Given the description of an element on the screen output the (x, y) to click on. 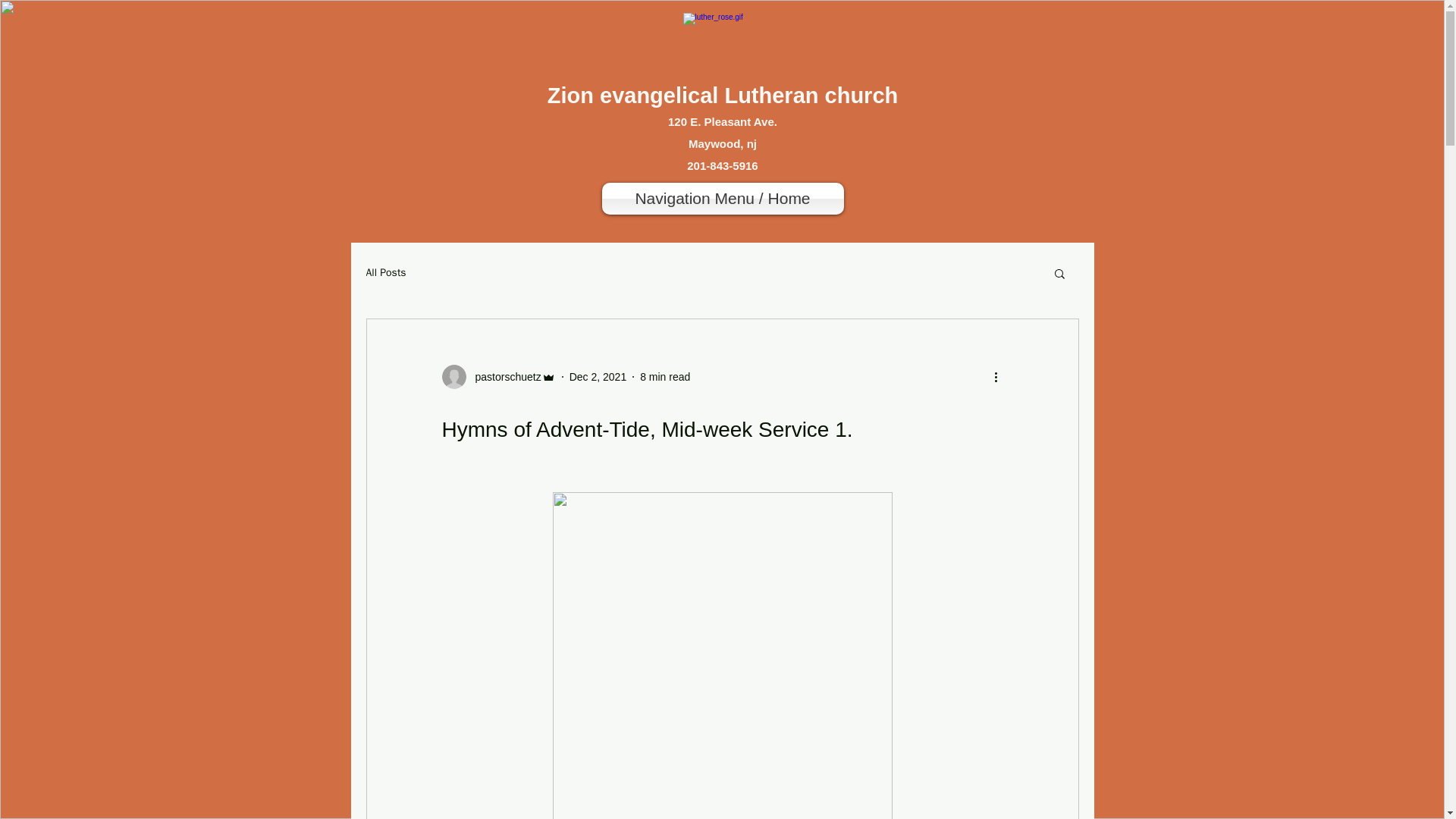
All Posts (385, 273)
8 min read (665, 376)
pastorschuetz (502, 376)
Dec 2, 2021 (598, 376)
pastorschuetz (497, 376)
